Given the description of an element on the screen output the (x, y) to click on. 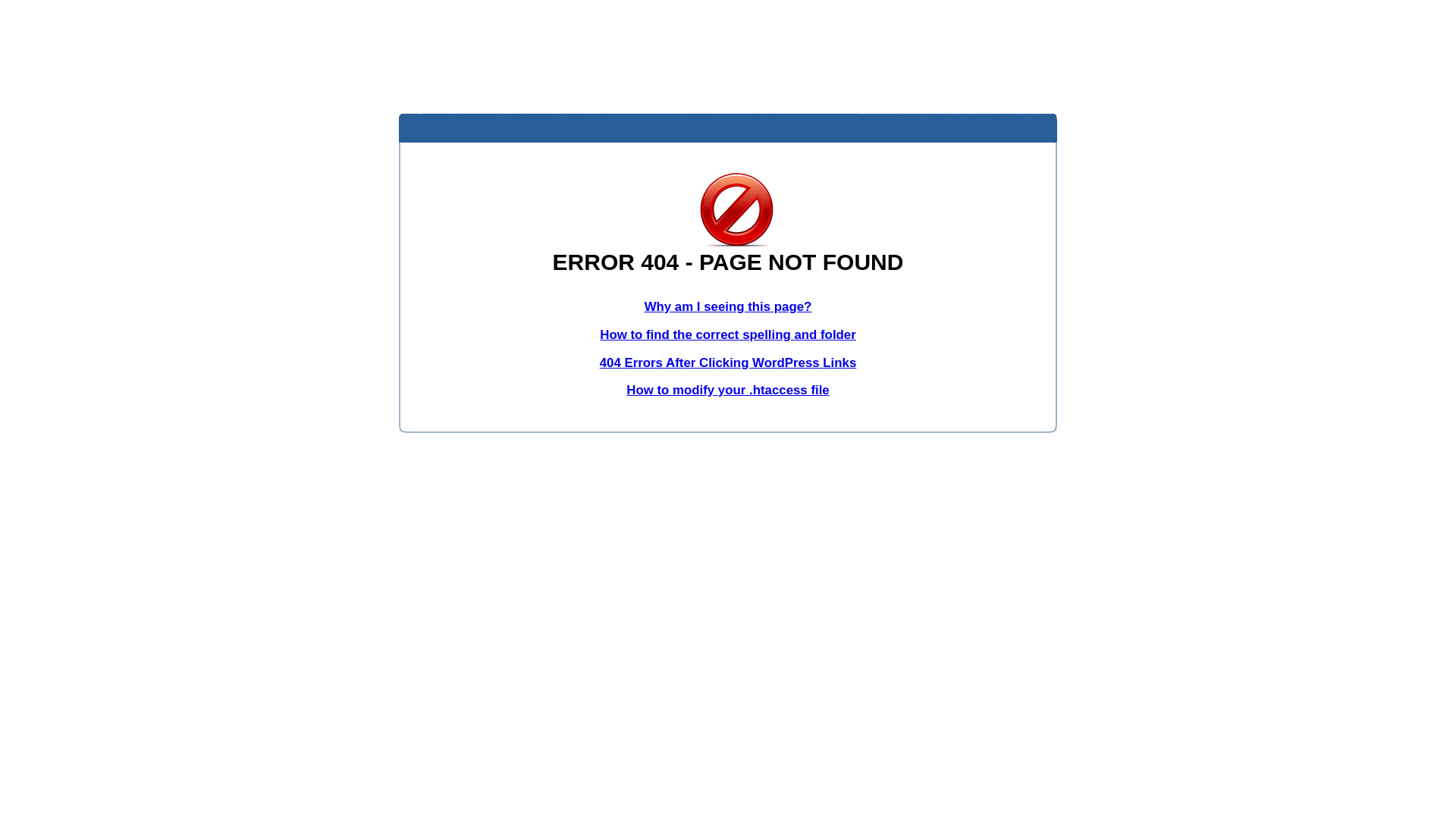
404 Errors After Clicking WordPress Links Element type: text (727, 362)
Why am I seeing this page? Element type: text (728, 306)
How to find the correct spelling and folder Element type: text (727, 334)
How to modify your .htaccess file Element type: text (727, 389)
